Given the description of an element on the screen output the (x, y) to click on. 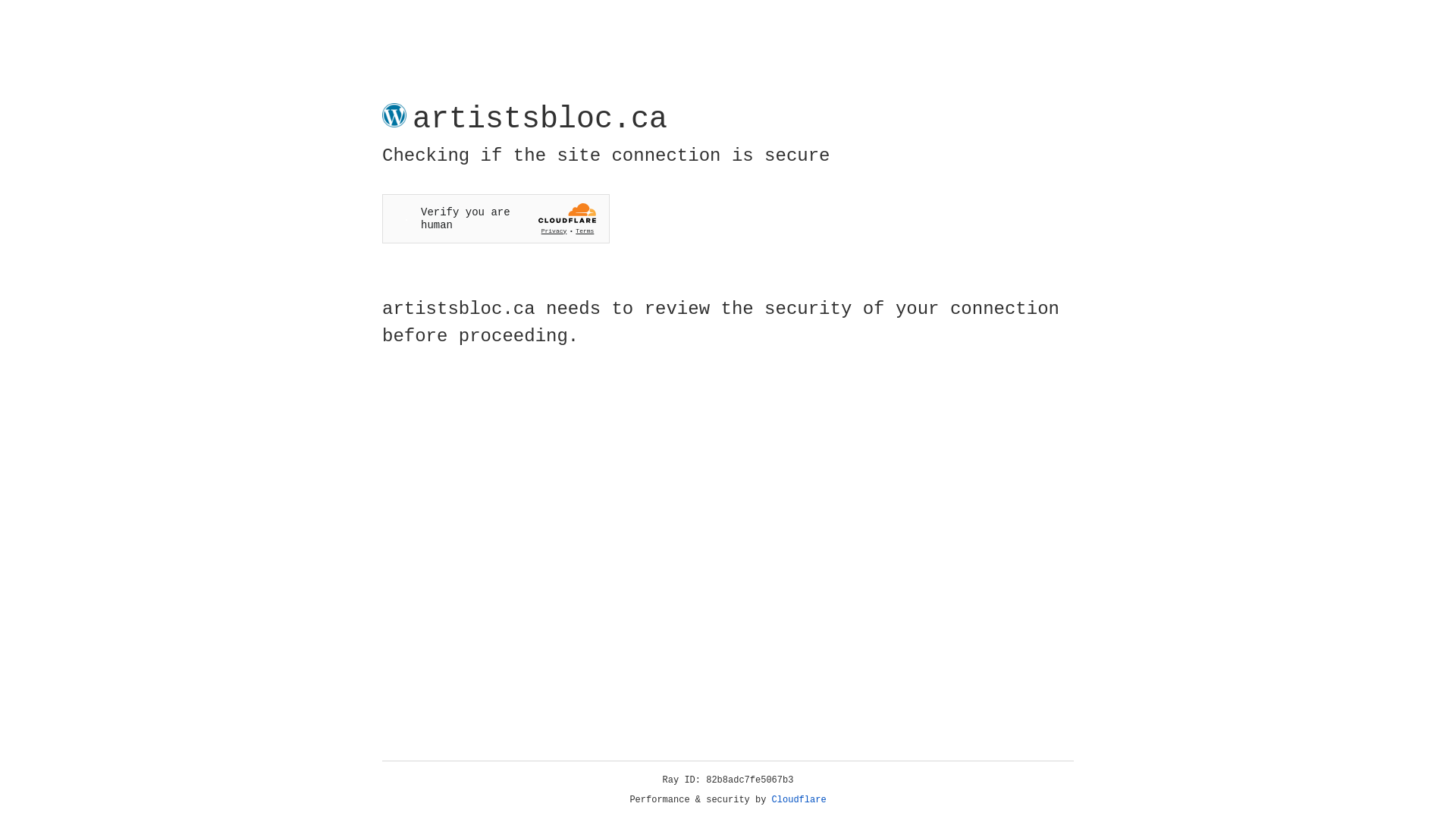
Widget containing a Cloudflare security challenge Element type: hover (495, 218)
Cloudflare Element type: text (798, 799)
